Given the description of an element on the screen output the (x, y) to click on. 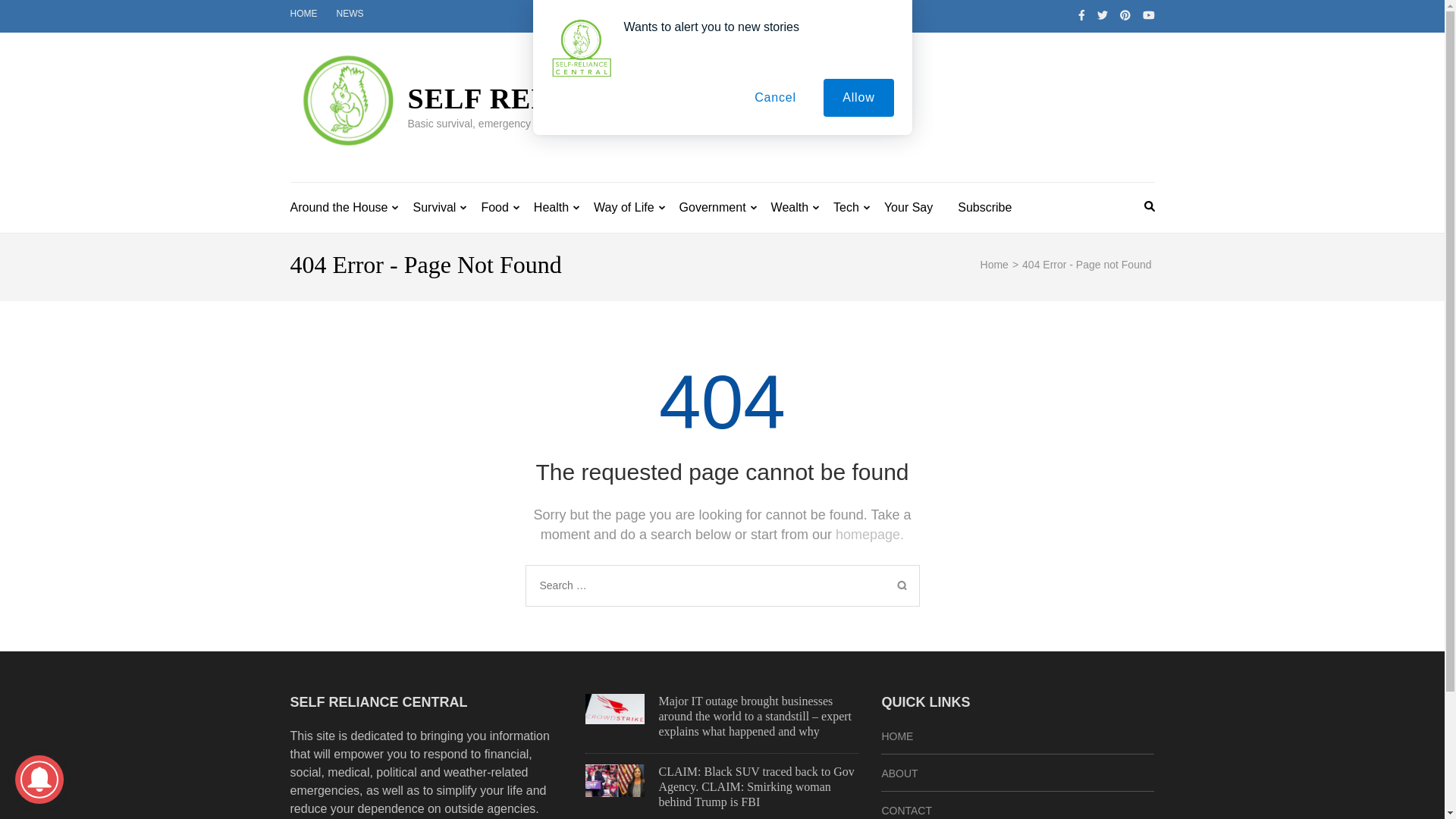
Youtube (1148, 15)
Search (901, 585)
Search (901, 585)
